Given the description of an element on the screen output the (x, y) to click on. 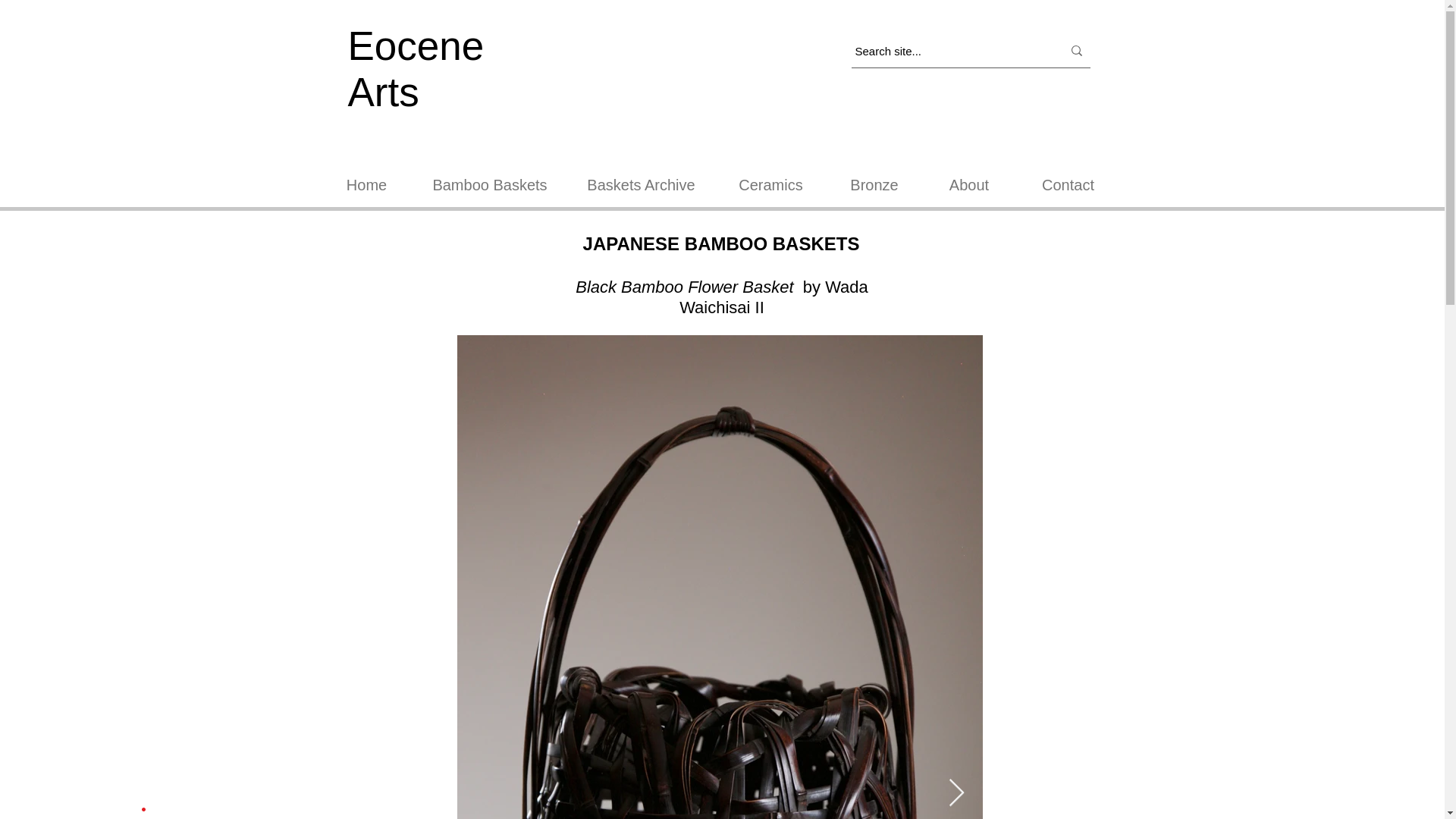
Baskets Archive (641, 185)
Ceramics (771, 185)
Bronze (875, 185)
Home (366, 185)
Eocene Arts (415, 68)
Contact (1068, 185)
Bamboo Baskets (489, 185)
About (967, 185)
